Given the description of an element on the screen output the (x, y) to click on. 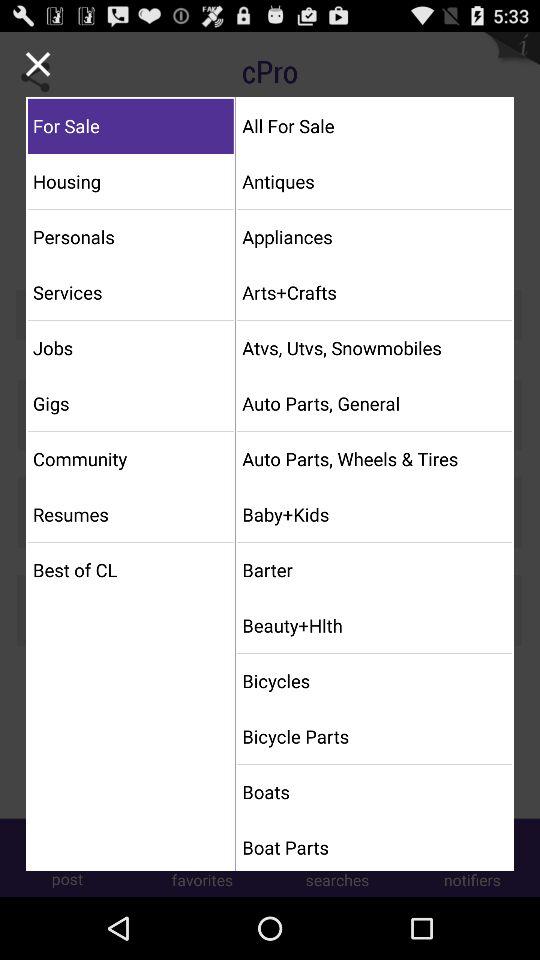
scroll to best of cl app (130, 569)
